Given the description of an element on the screen output the (x, y) to click on. 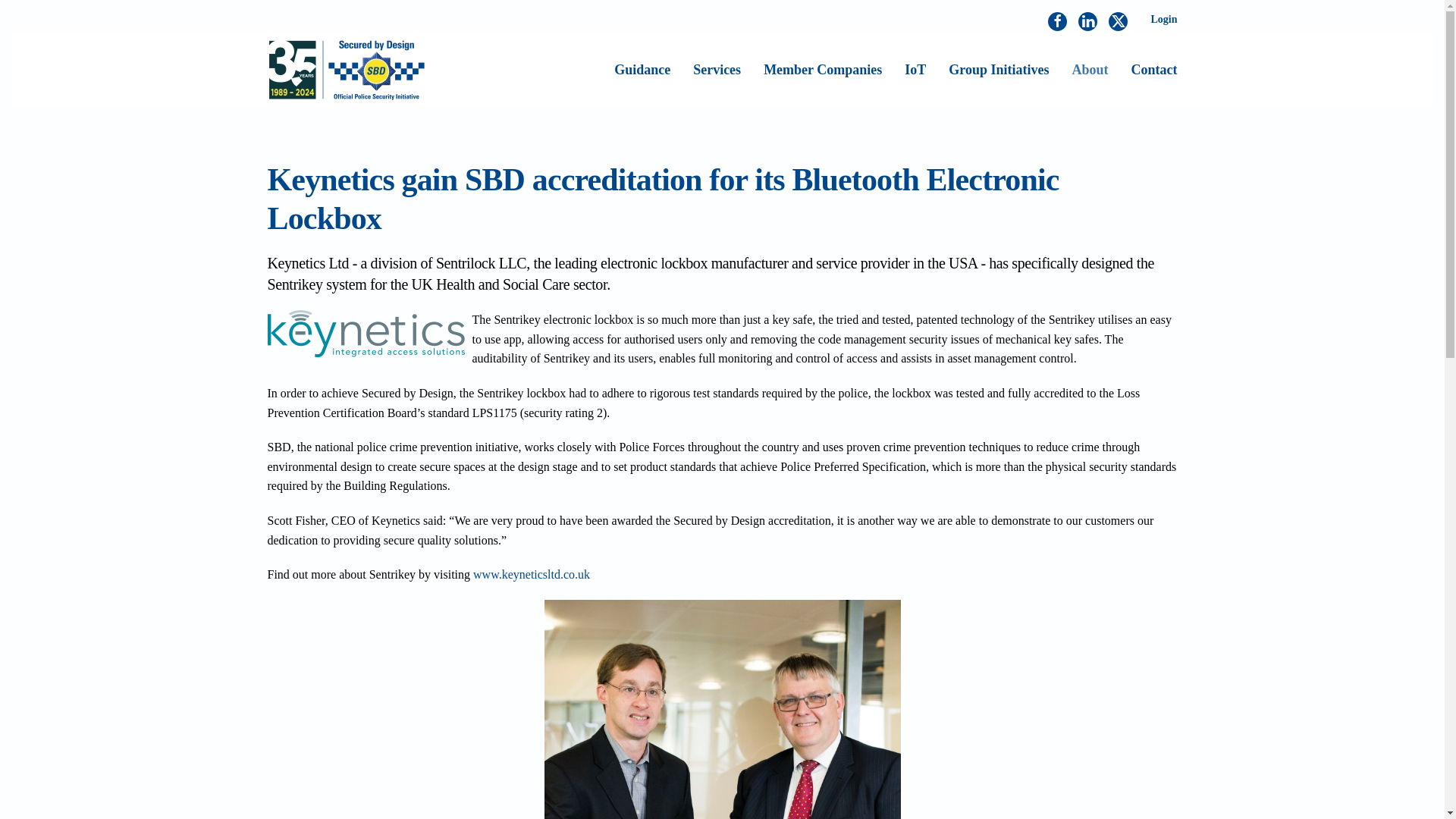
Login (1163, 19)
Guidance (641, 69)
